Given the description of an element on the screen output the (x, y) to click on. 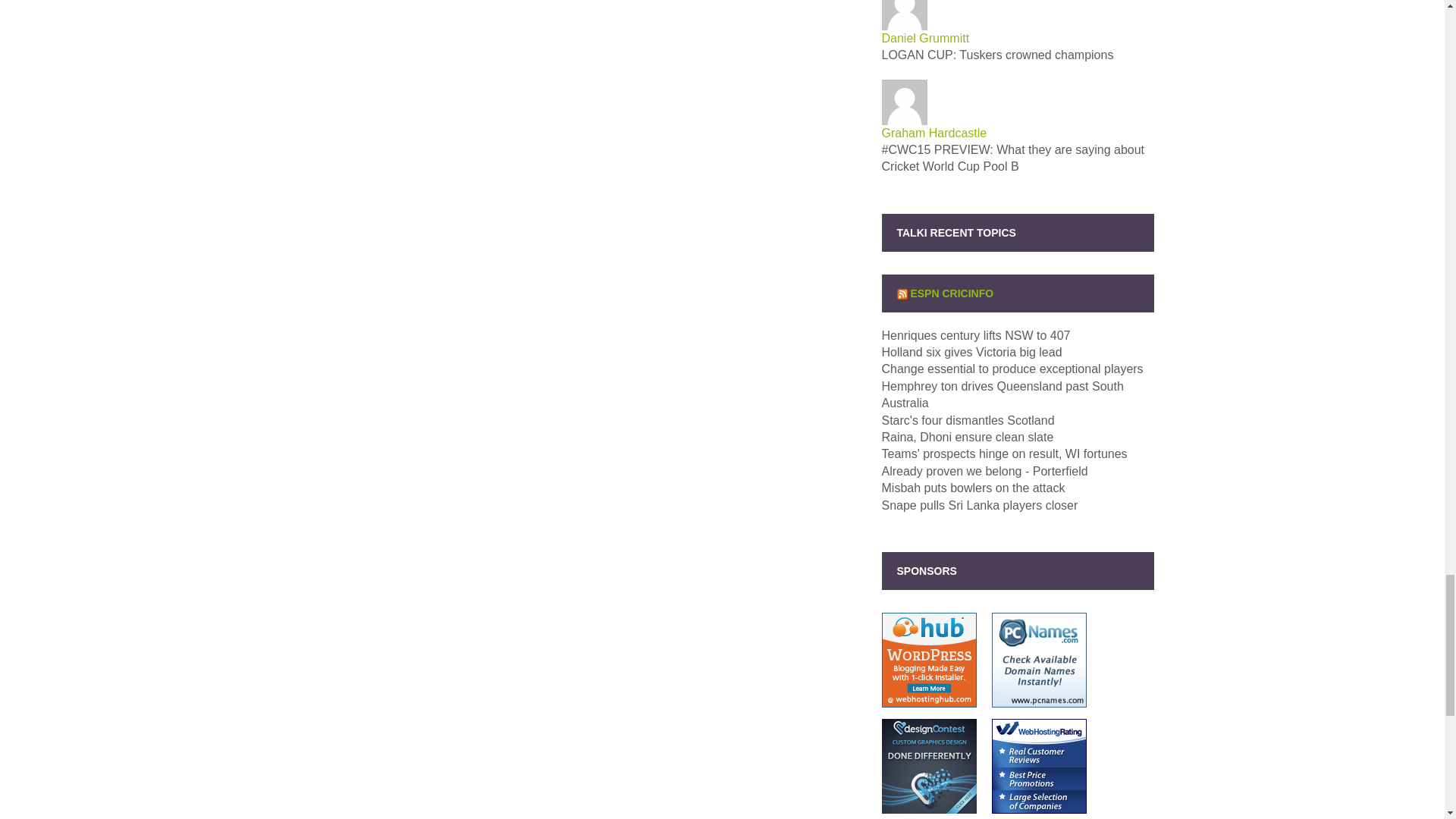
Posts by Daniel Grummitt (924, 38)
LOGAN CUP: Tuskers crowned champions (996, 54)
Posts by Graham Hardcastle (933, 132)
